Given the description of an element on the screen output the (x, y) to click on. 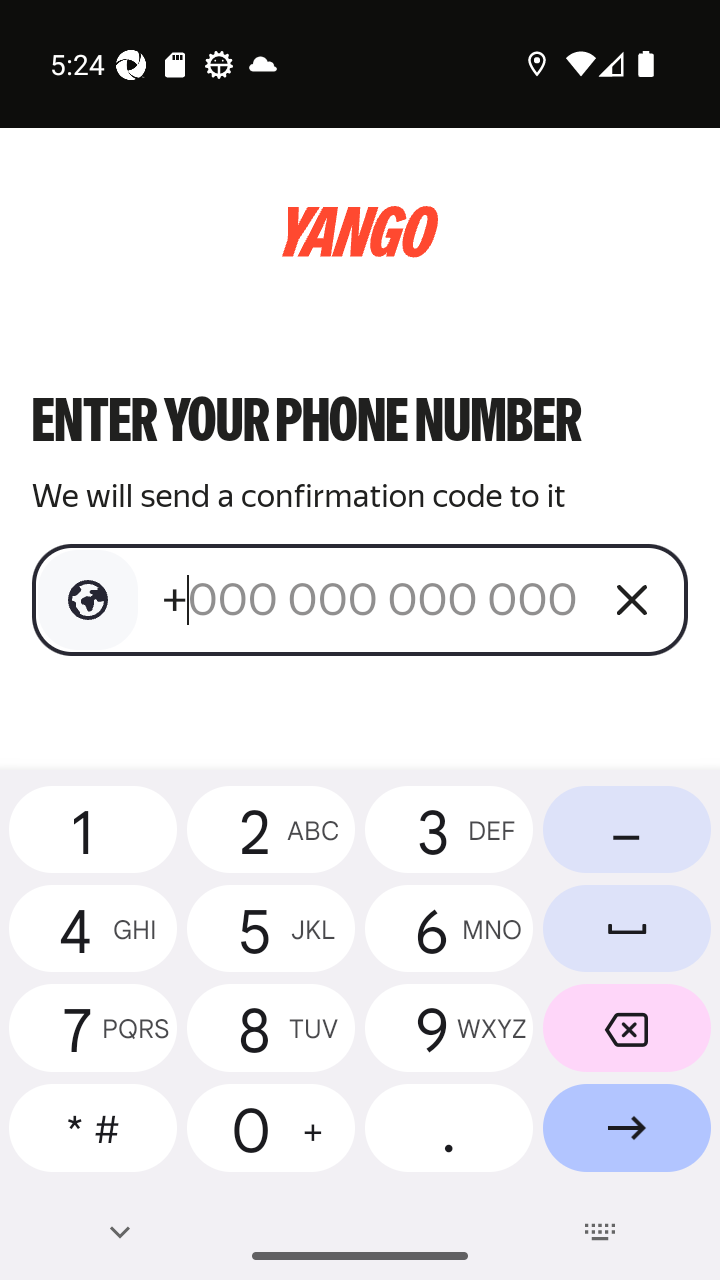
logo (359, 231)
  (88, 600)
+ (372, 599)
